Given the description of an element on the screen output the (x, y) to click on. 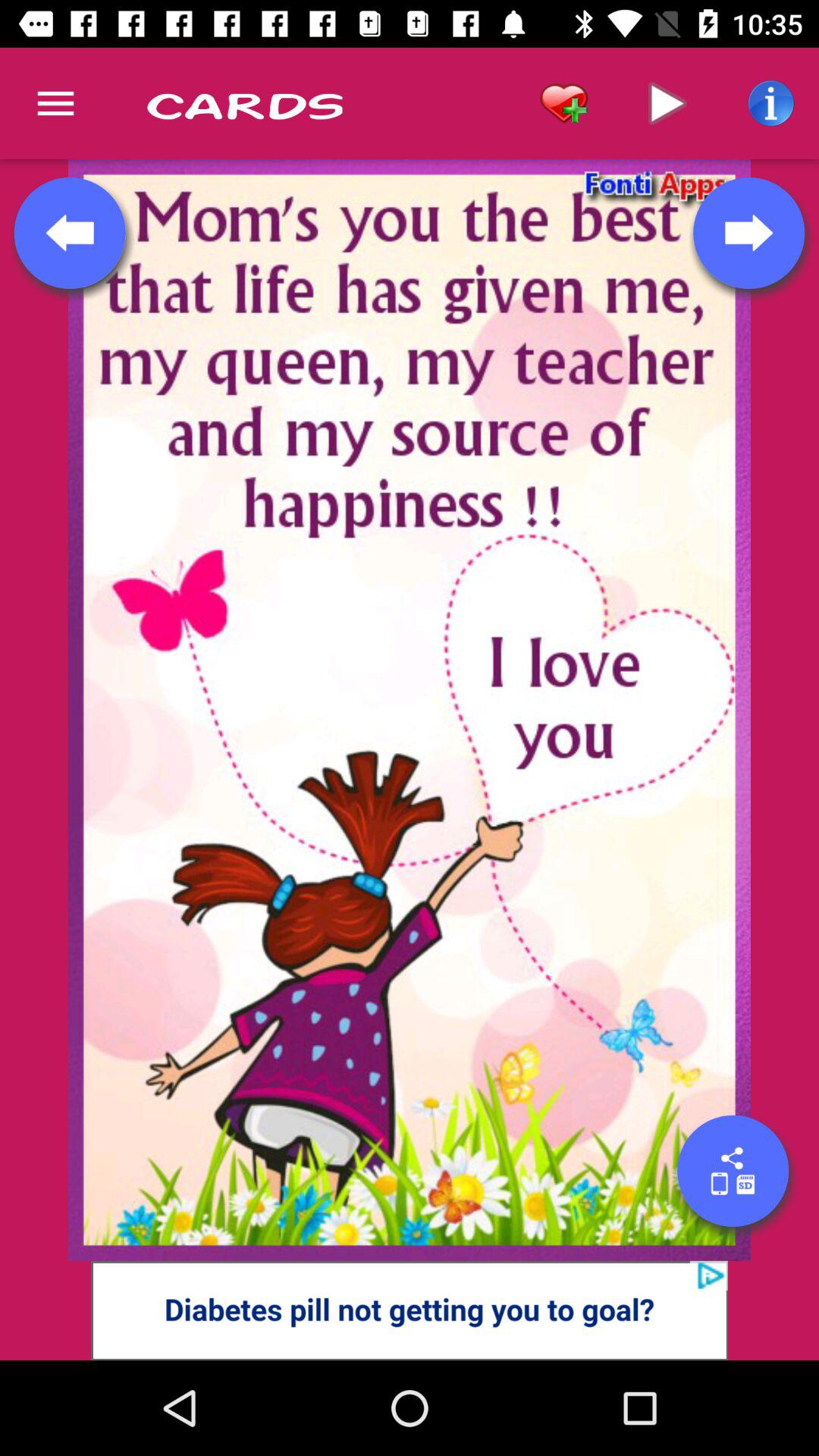
go next (749, 233)
